Given the description of an element on the screen output the (x, y) to click on. 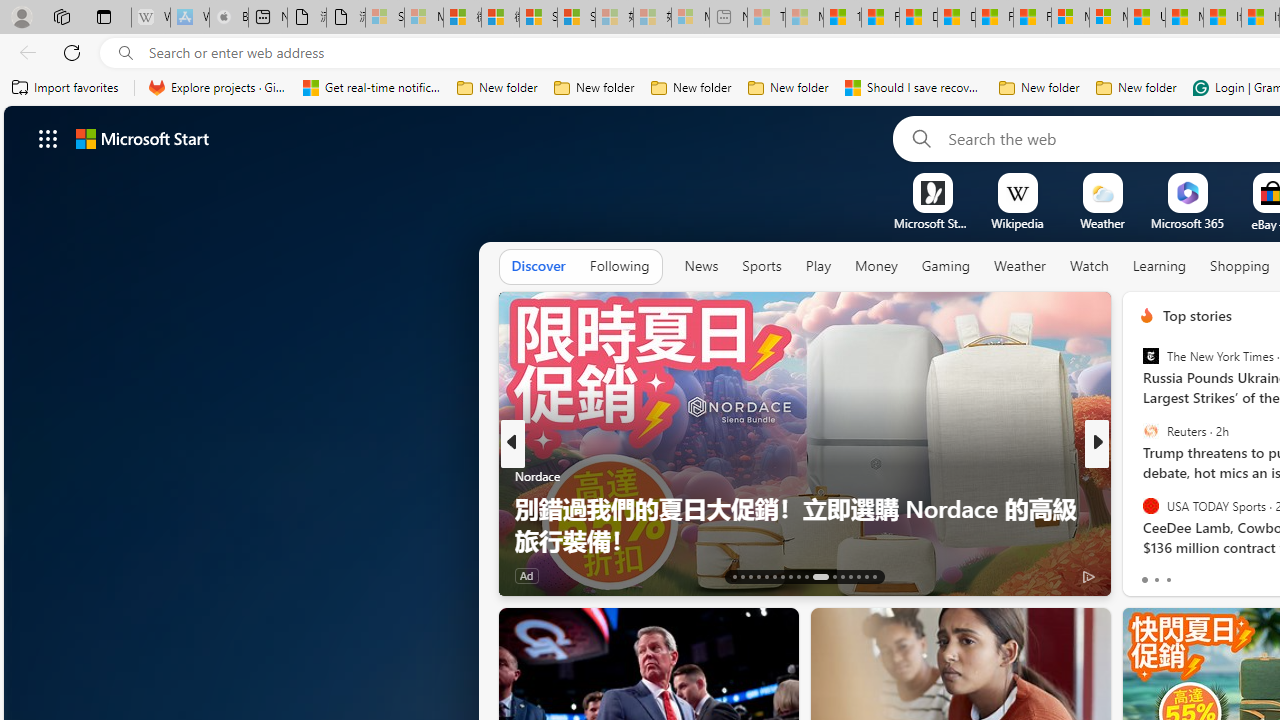
To get missing image descriptions, open the context menu. (932, 192)
View comments 66 Comment (11, 575)
AutomationID: tab-19 (782, 576)
Search icon (125, 53)
421 Like (1151, 574)
AutomationID: tab-25 (842, 576)
